Given the description of an element on the screen output the (x, y) to click on. 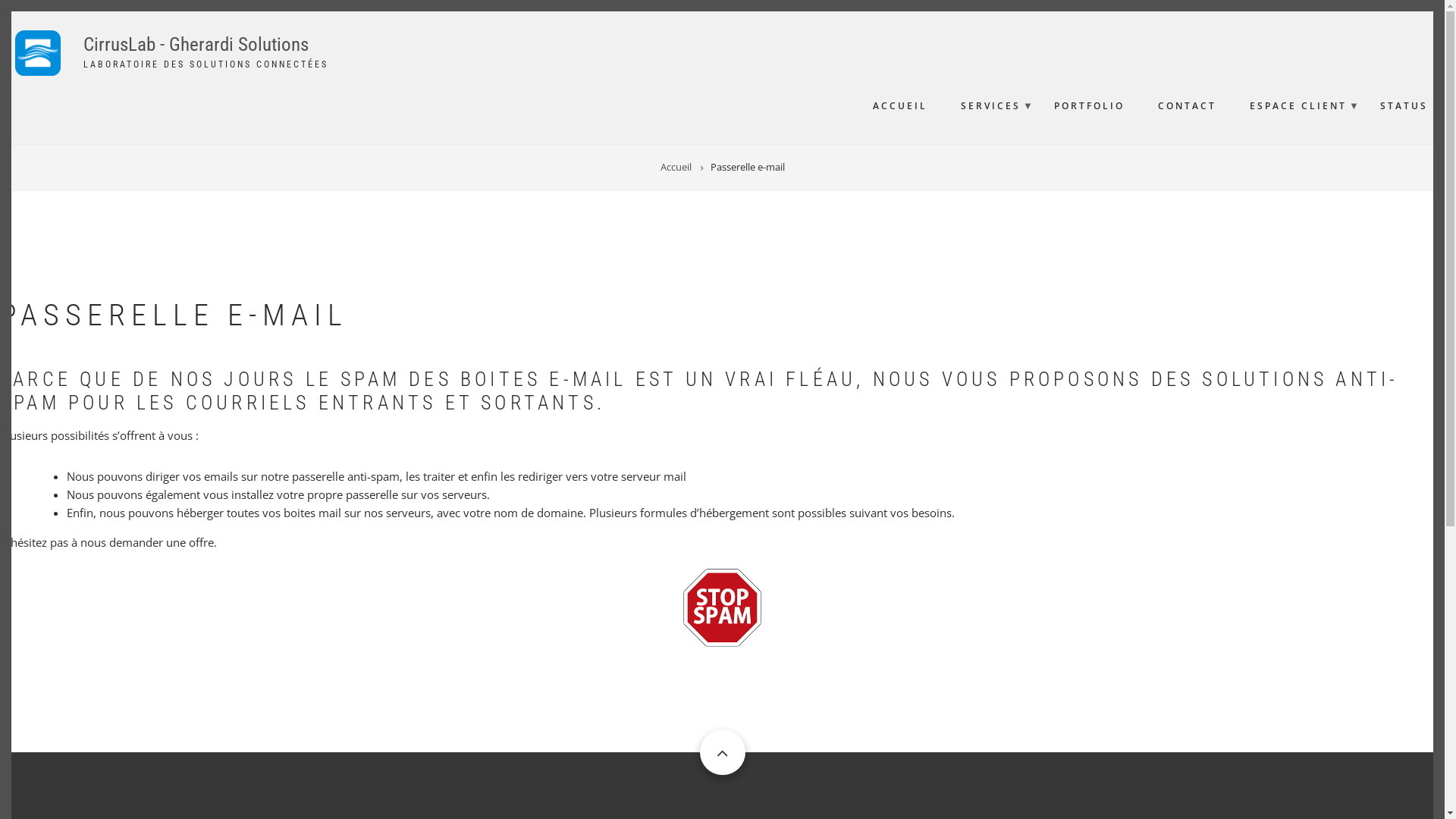
ACCUEIL Element type: text (899, 105)
CirrusLab - Gherardi Solutions Element type: text (195, 44)
Accueil Element type: text (674, 166)
Accueil Element type: hover (37, 70)
PORTFOLIO Element type: text (1089, 105)
STATUS Element type: text (1403, 105)
Aller au contenu principal Element type: text (0, 0)
CONTACT Element type: text (1187, 105)
